Given the description of an element on the screen output the (x, y) to click on. 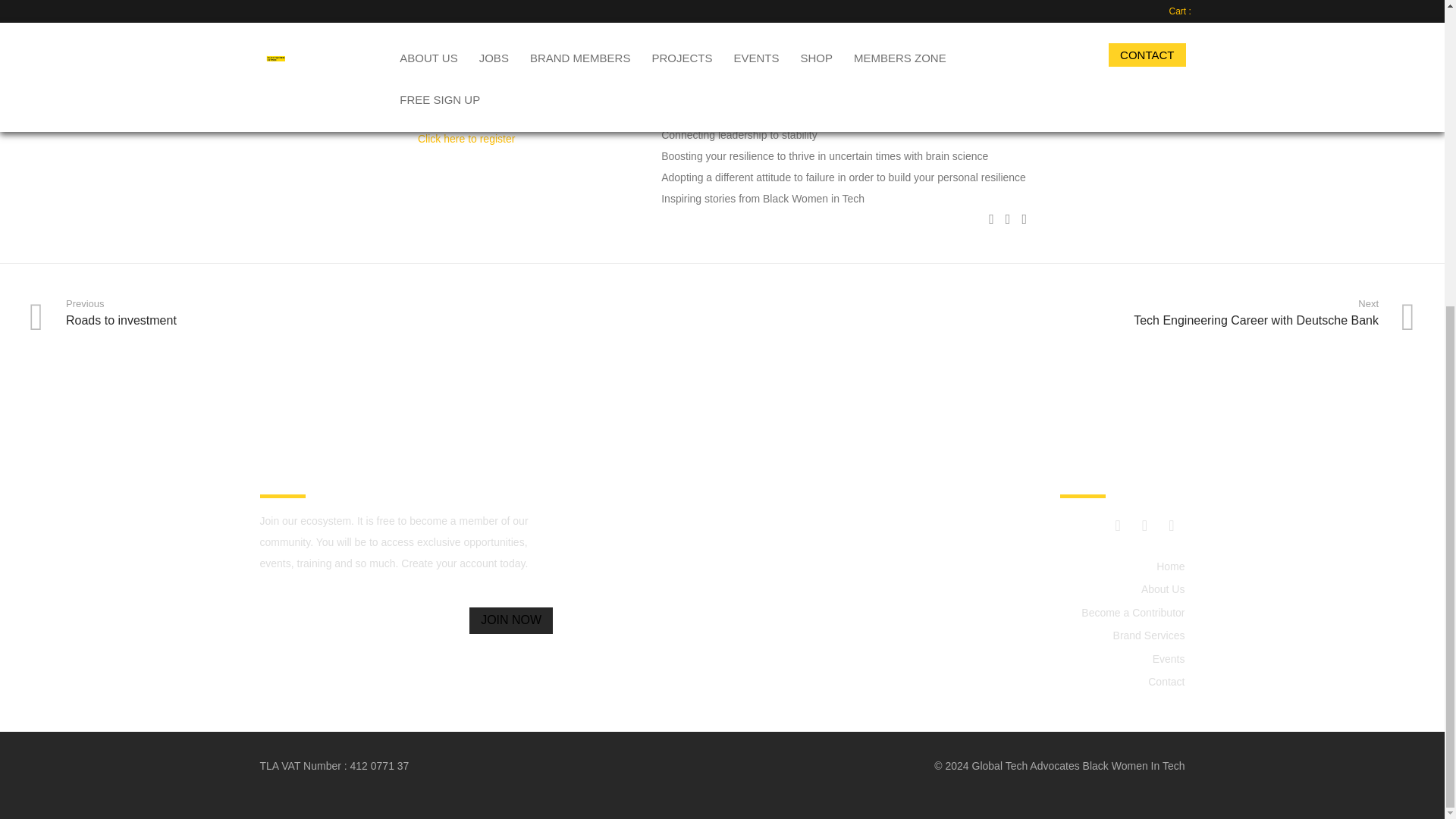
Twitter (1144, 524)
Pin on Pinterest (1024, 219)
Instagram (1118, 524)
LinkedIn (1171, 524)
Share on Twitter (1008, 219)
Share on Facebook (991, 219)
